Given the description of an element on the screen output the (x, y) to click on. 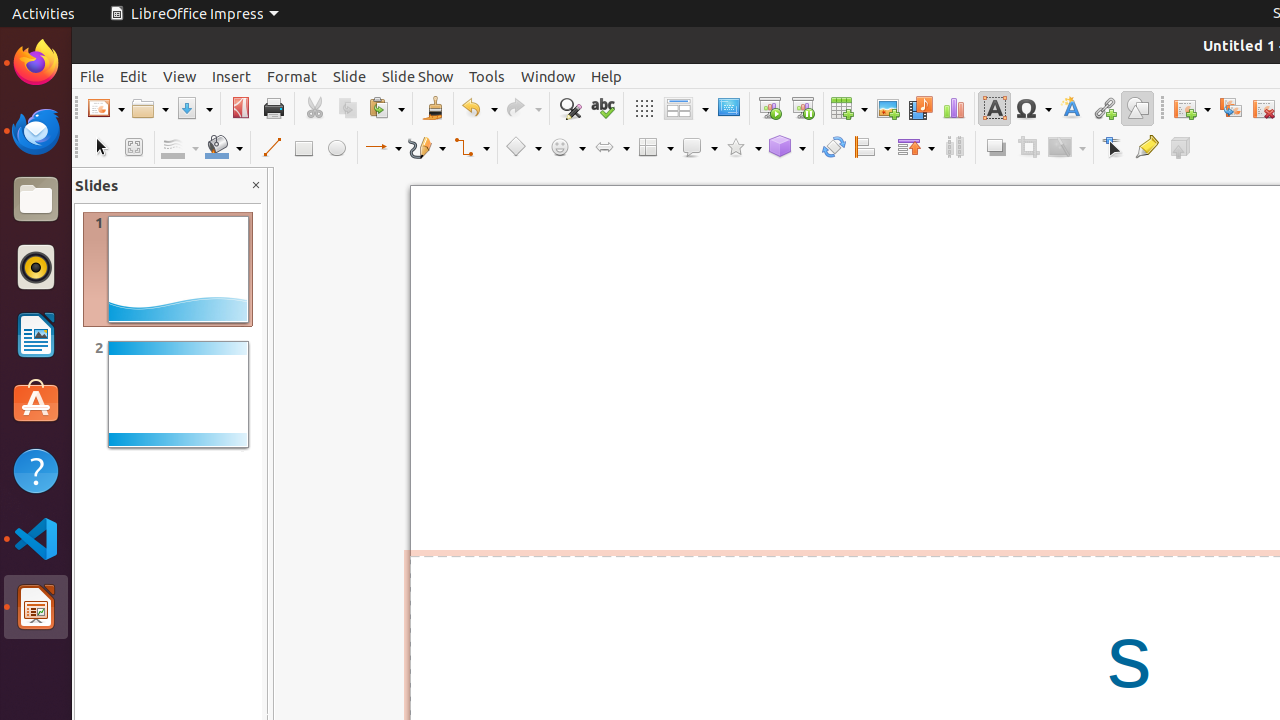
Symbol Shapes Element type: push-button (567, 147)
Fill Color Element type: push-button (224, 147)
